Given the description of an element on the screen output the (x, y) to click on. 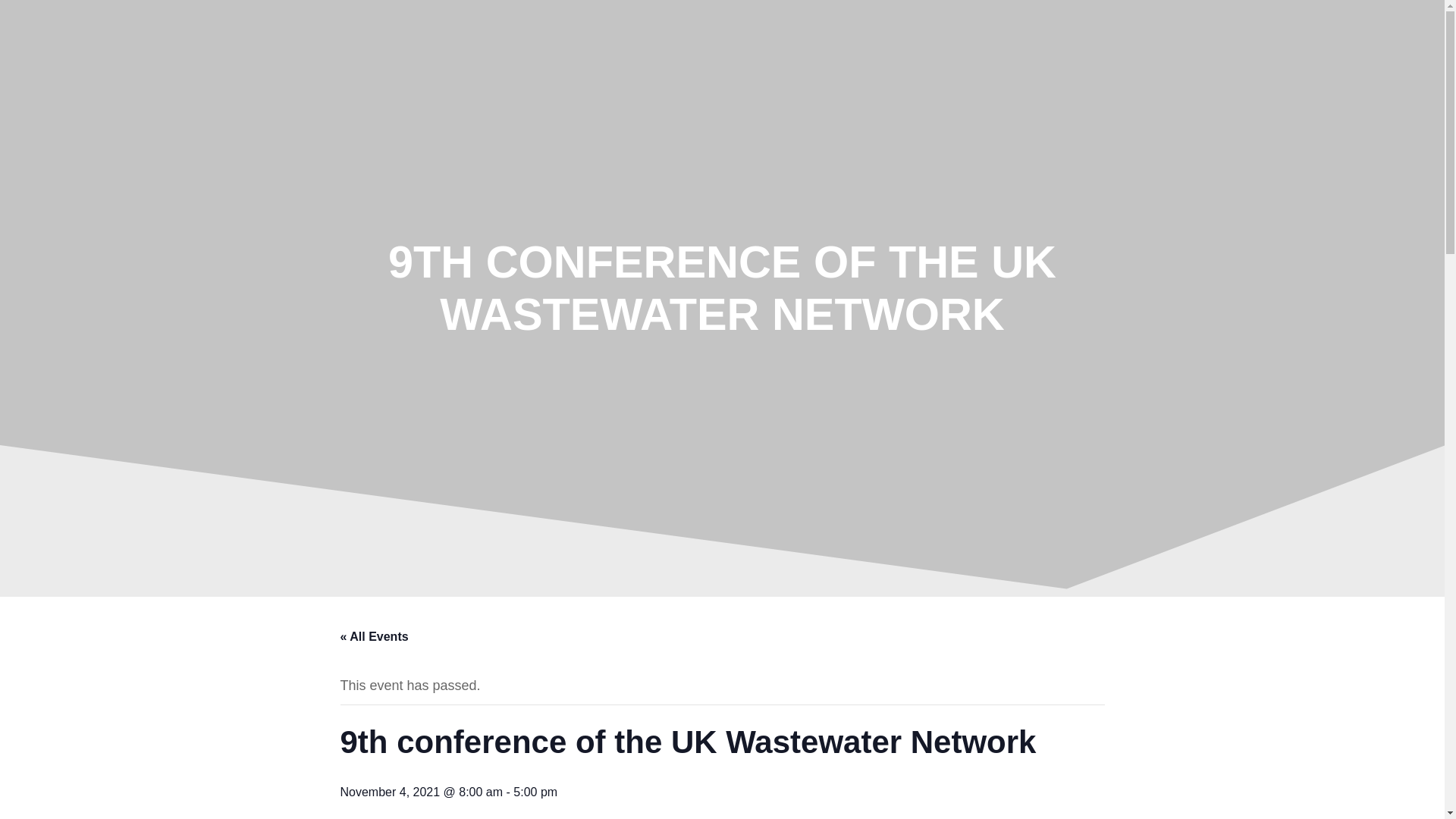
ABOUT THE NETWORKS (708, 60)
MEMBERS AREA: WATER NETWORK (1206, 129)
MEMBERS AREA: WASTEWATER NETWORK (1176, 60)
